Given the description of an element on the screen output the (x, y) to click on. 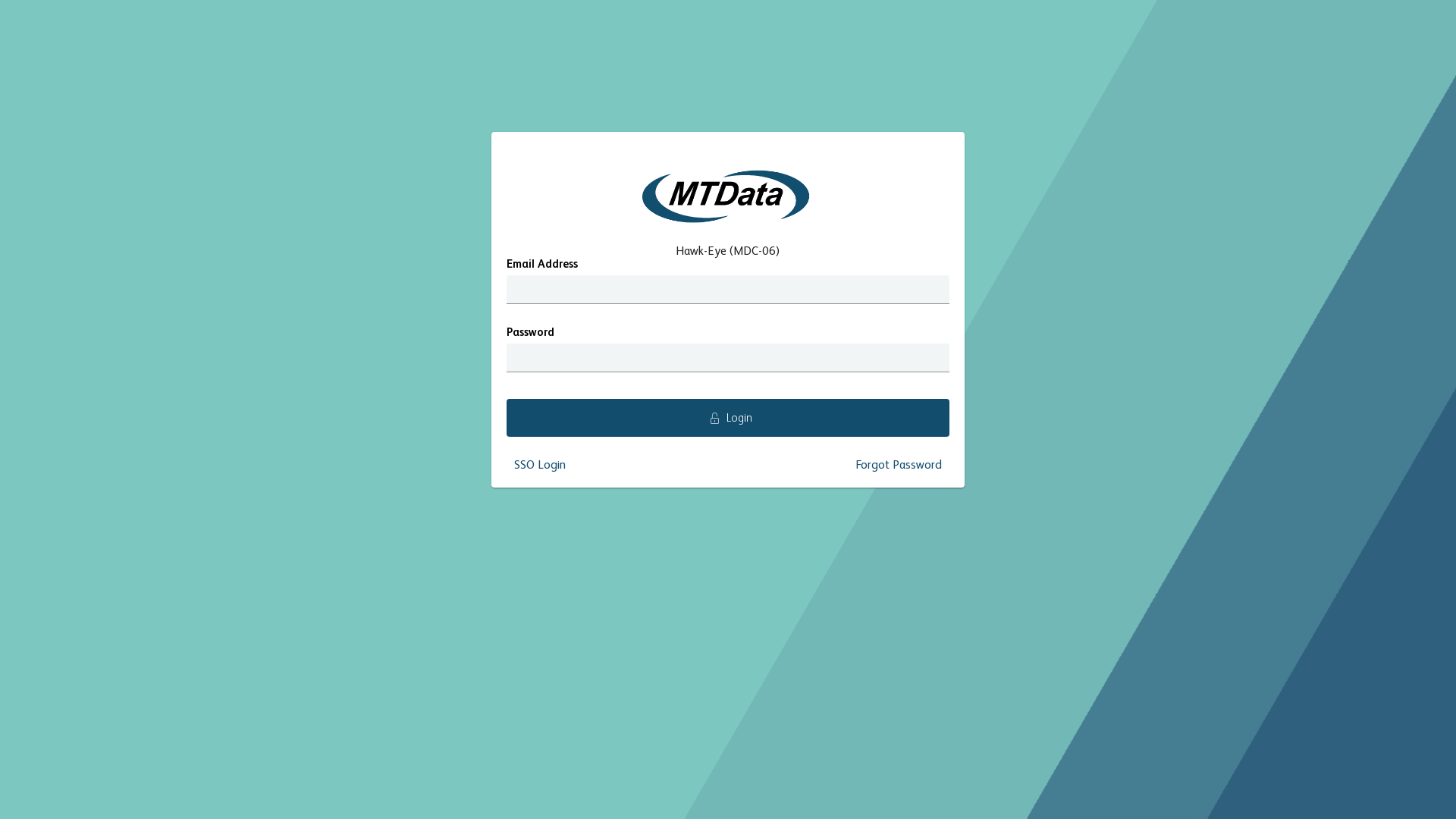
SSO Login Element type: text (539, 465)
Login Element type: text (727, 417)
Forgot Password Element type: text (898, 465)
